Given the description of an element on the screen output the (x, y) to click on. 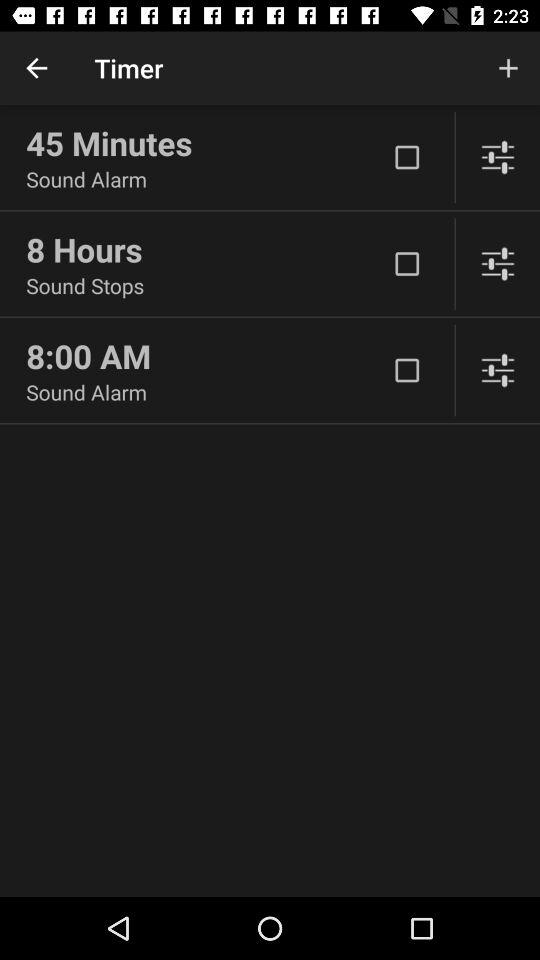
press the 8 hours (206, 249)
